Given the description of an element on the screen output the (x, y) to click on. 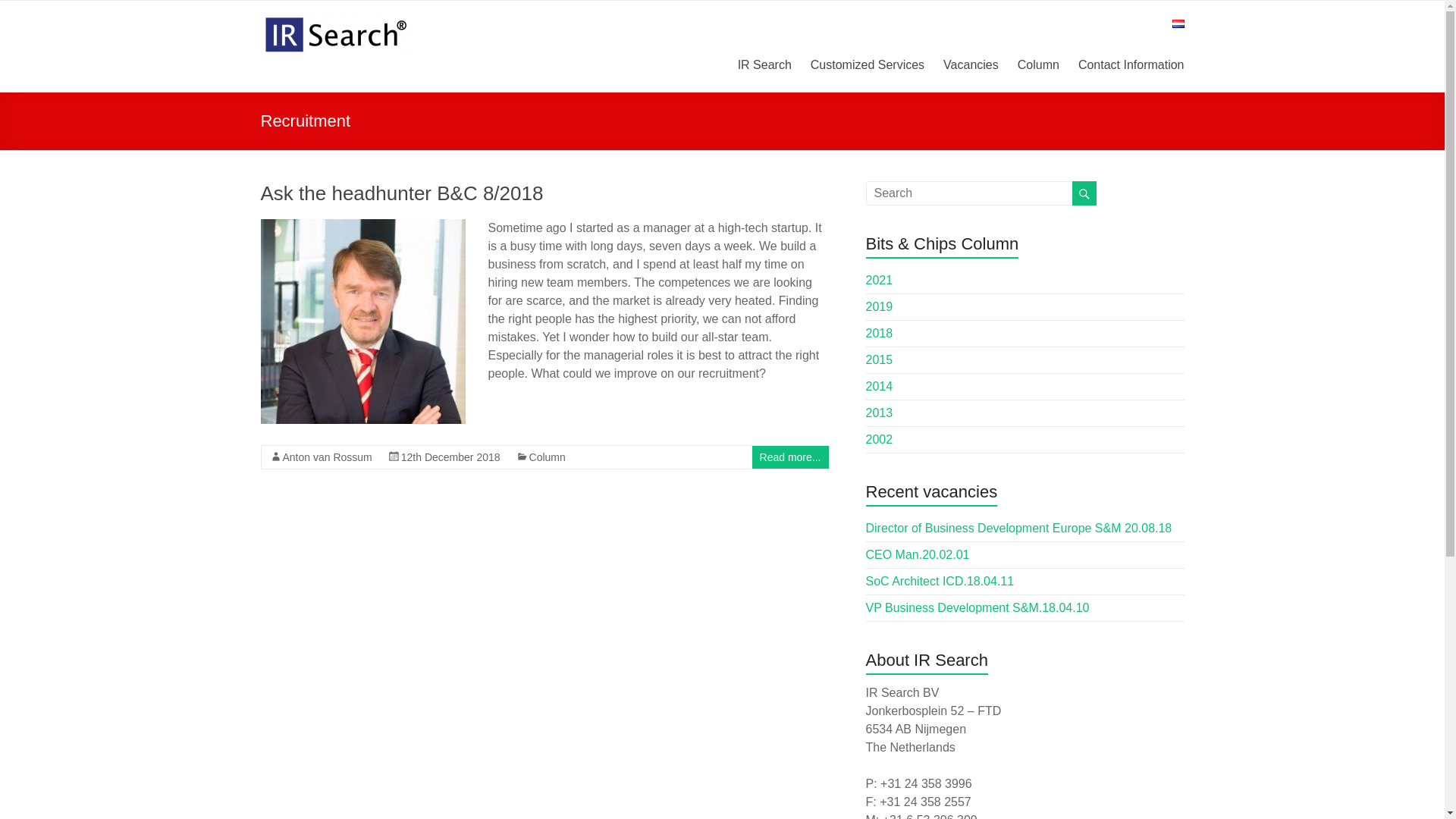
2:14 pm (450, 457)
Contact Information (1131, 62)
IR Search (765, 62)
12th December 2018 (450, 457)
Vacancies (970, 62)
2021 (879, 279)
Column (1038, 62)
2019 (879, 306)
2015 (879, 359)
2014 (879, 386)
